Given the description of an element on the screen output the (x, y) to click on. 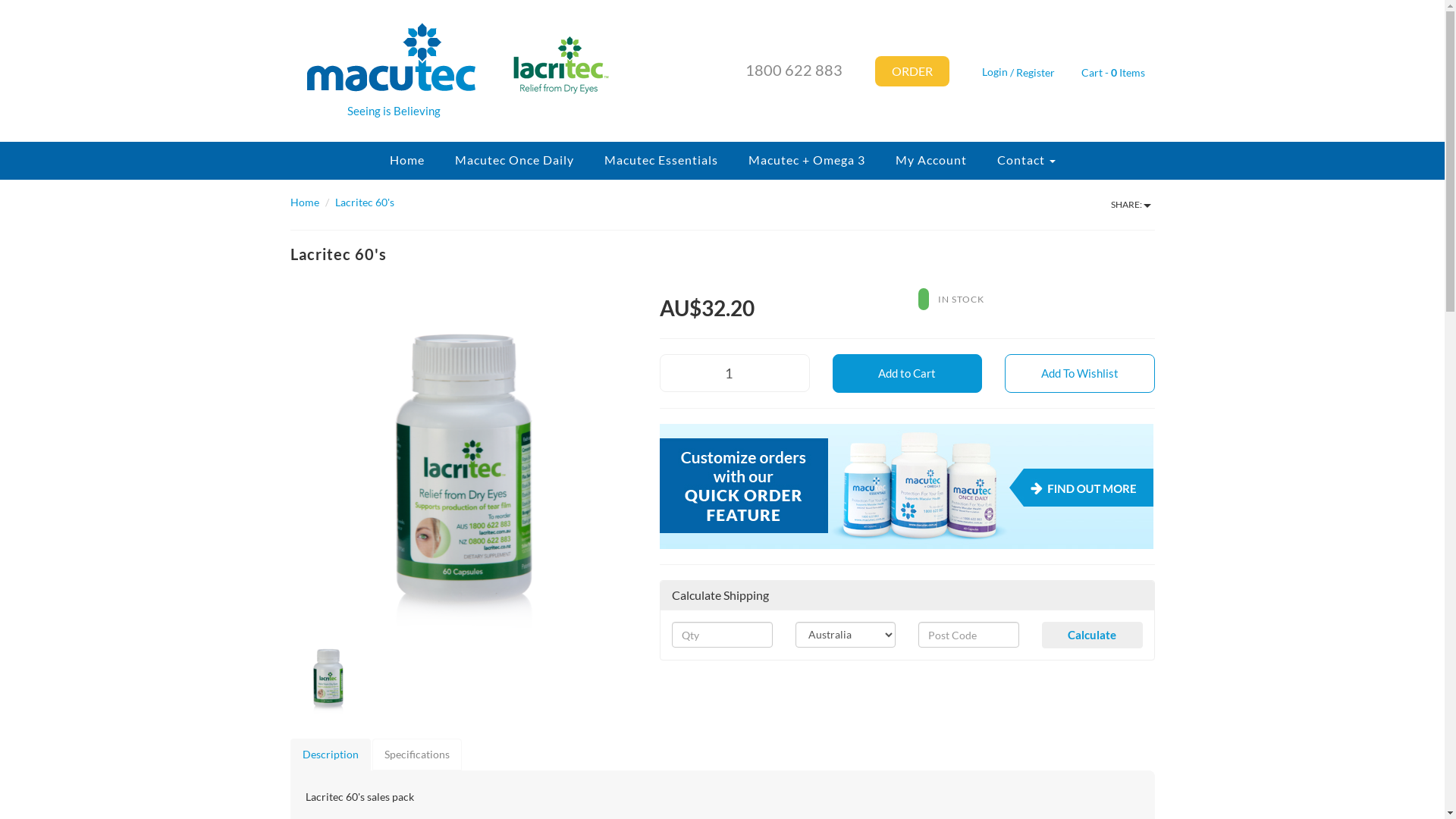
Add to Cart Element type: text (907, 373)
Contact Element type: text (1025, 160)
1800 622 883 Element type: text (792, 69)
Lacritec Element type: hover (542, 58)
Seeing is Believing Element type: text (382, 70)
Calculate Element type: text (1091, 634)
Cart - 0 Items Element type: text (1114, 73)
Lacritec 60's Element type: text (364, 201)
Home Element type: text (303, 201)
Home Element type: text (406, 160)
ORDER Element type: text (912, 71)
Description Element type: text (329, 754)
SHARE: Element type: text (1130, 204)
Macutec + Omega 3 Element type: text (805, 160)
Login Element type: text (990, 71)
My Account Element type: text (930, 160)
Large View Element type: hover (463, 466)
Register Element type: text (1035, 71)
Add To Wishlist Element type: text (1079, 373)
Macutec Once Daily Element type: text (514, 160)
Specifications Element type: text (416, 754)
Macutec Essentials Element type: text (660, 160)
